Given the description of an element on the screen output the (x, y) to click on. 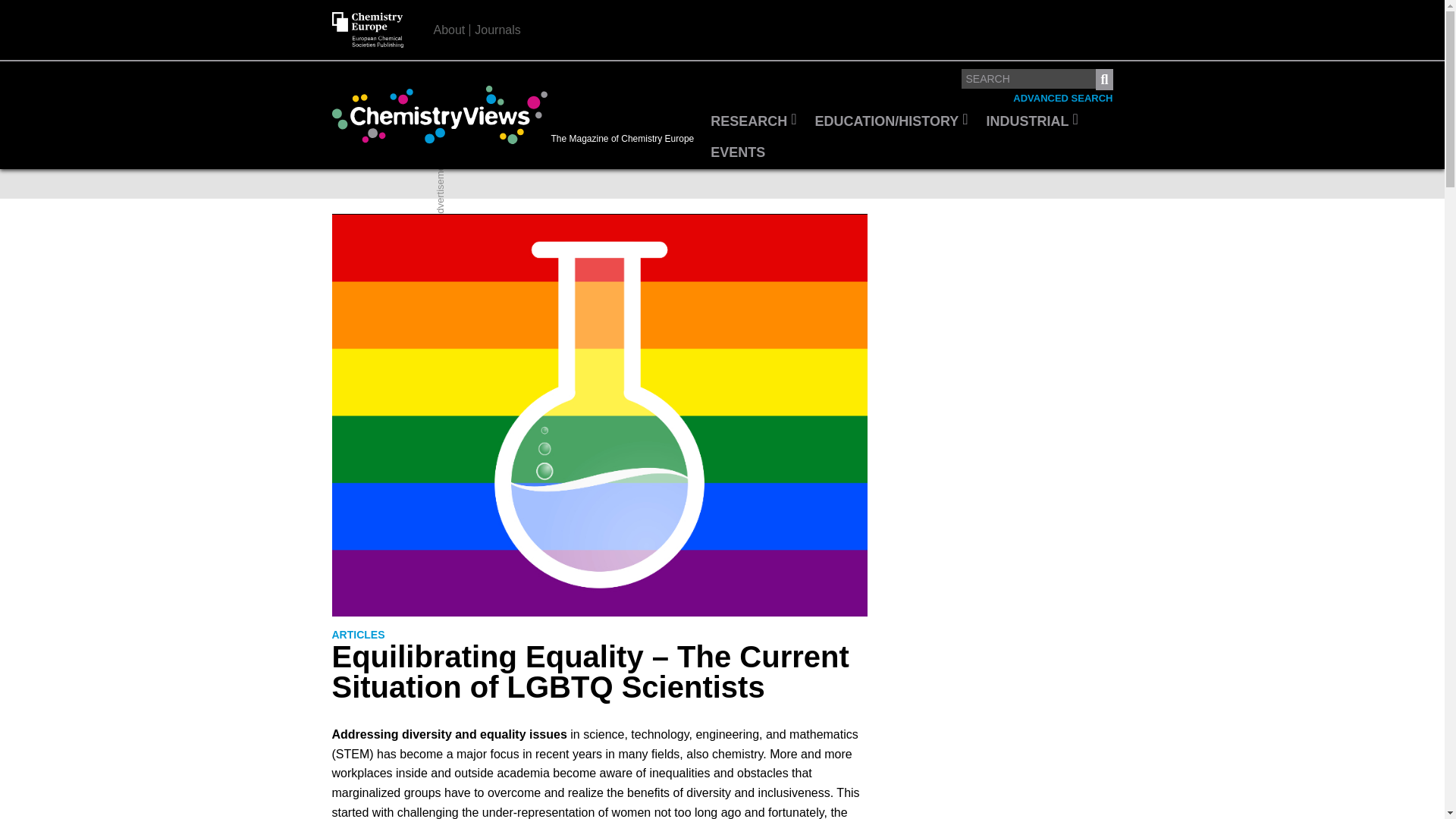
The Magazine of Chemistry Europe (516, 114)
ARTICLES (358, 634)
EVENTS (737, 152)
INDUSTRIAL (1031, 122)
About (449, 29)
RESEARCH (753, 122)
Journals (496, 29)
ADVANCED SEARCH (1062, 98)
